Given the description of an element on the screen output the (x, y) to click on. 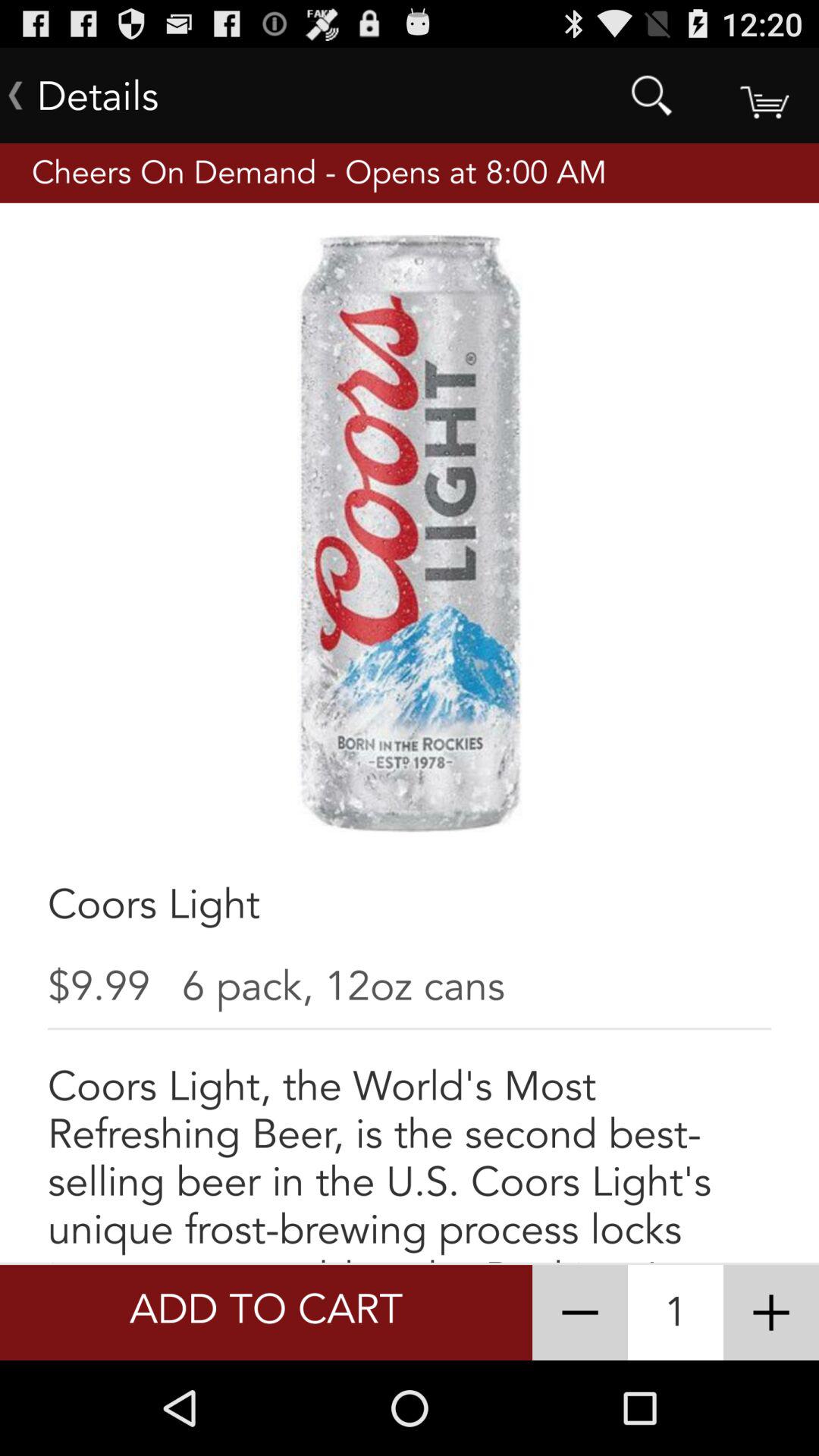
turn off item to the left of the 1 item (579, 1312)
